Given the description of an element on the screen output the (x, y) to click on. 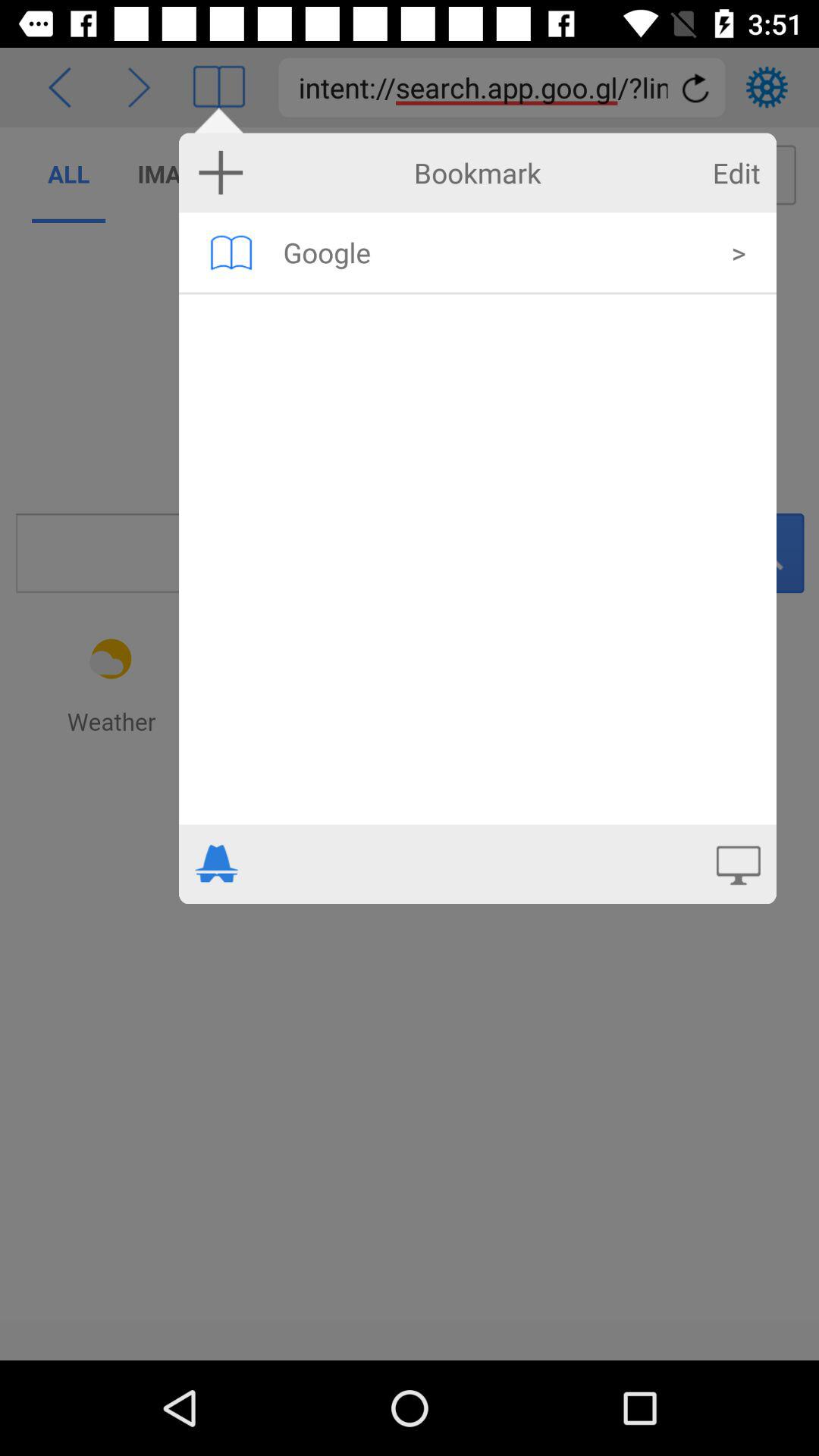
tap the icon to the right of the google item (738, 252)
